Given the description of an element on the screen output the (x, y) to click on. 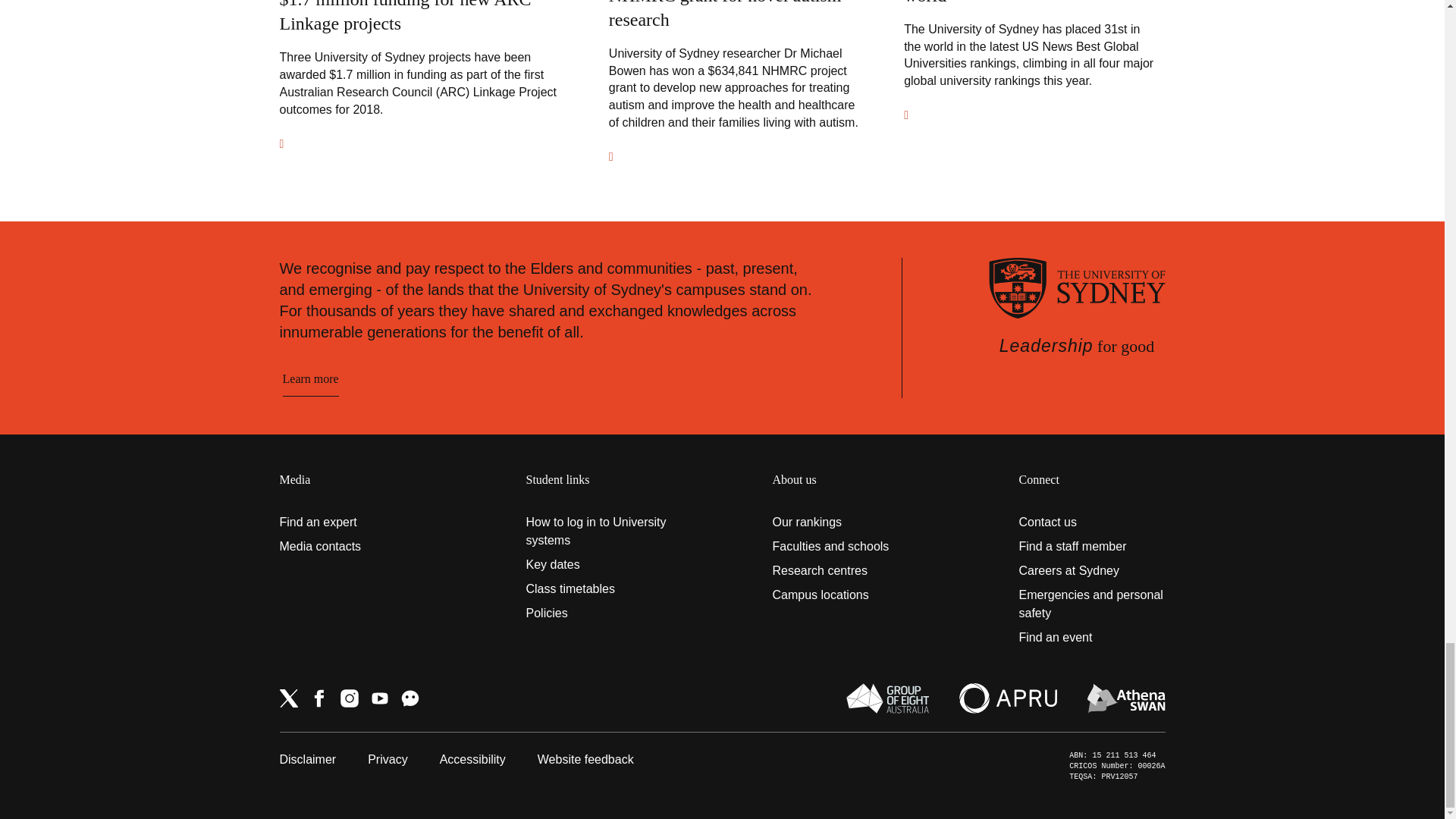
youtube (378, 698)
facebook (317, 698)
instagram (348, 698)
wechat (409, 698)
twitter (288, 698)
